Given the description of an element on the screen output the (x, y) to click on. 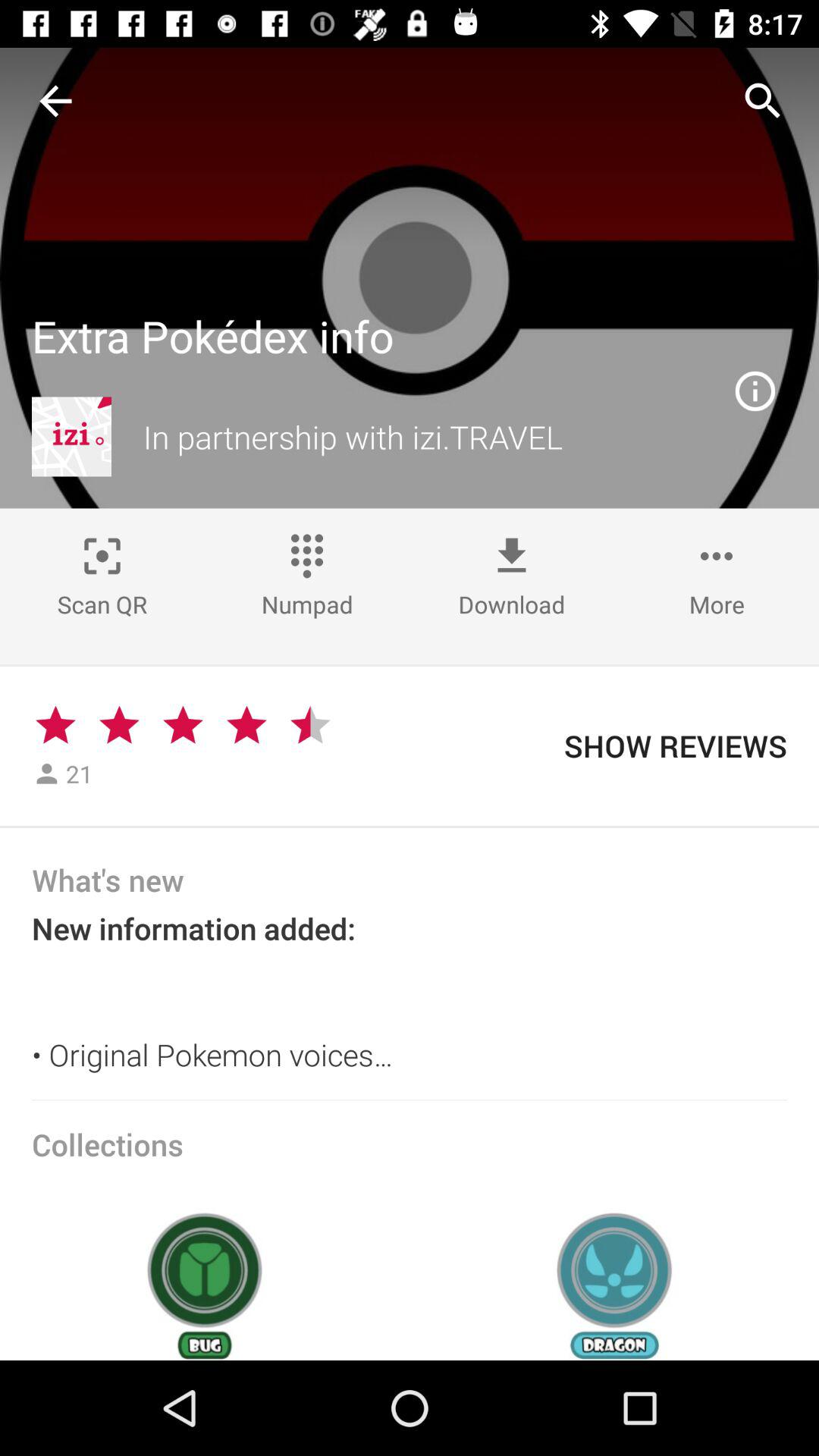
turn off item next to 21 item (119, 725)
